Given the description of an element on the screen output the (x, y) to click on. 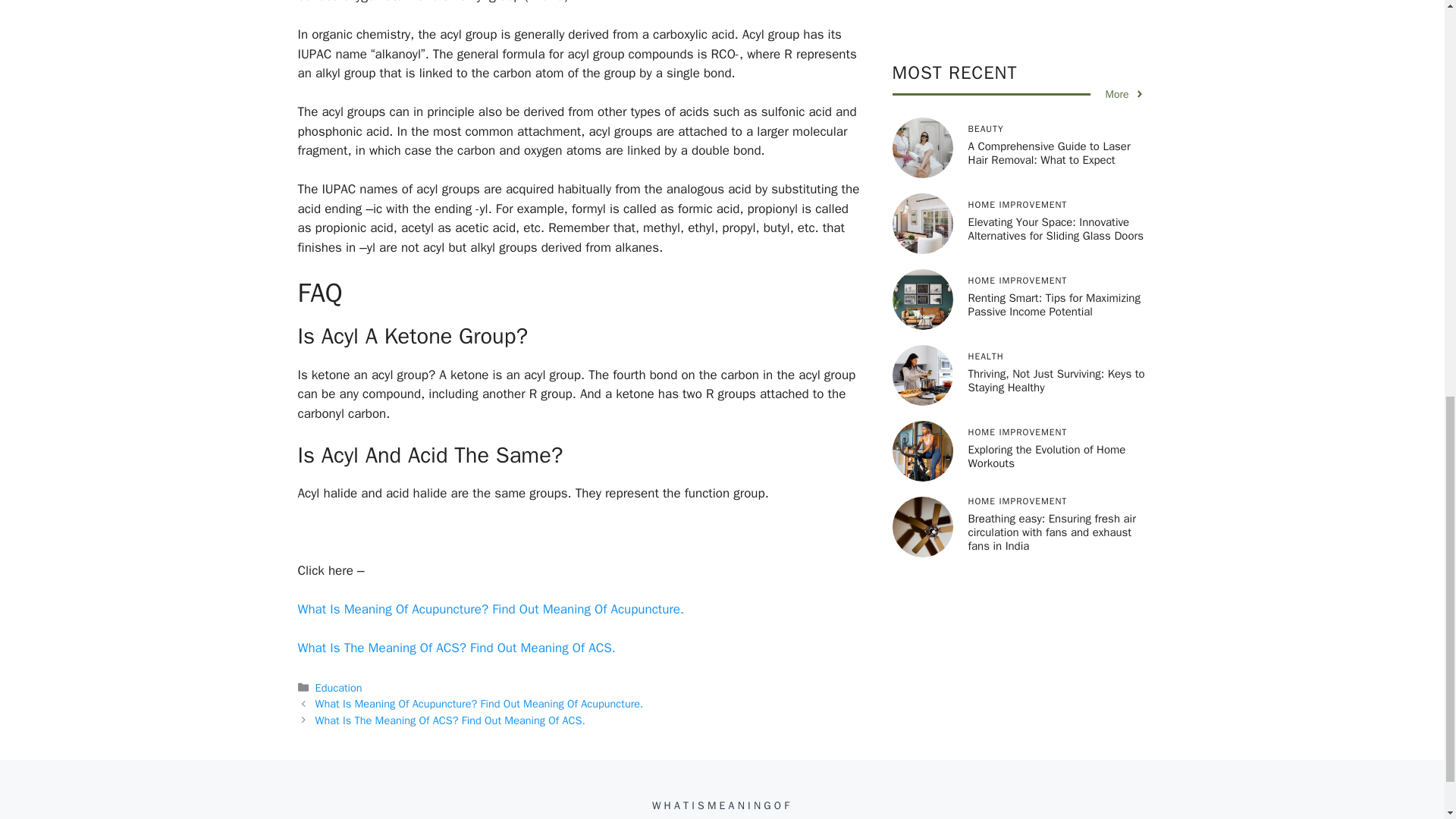
Education (338, 687)
What Is The Meaning Of ACS? Find Out Meaning Of ACS. (455, 647)
What Is The Meaning Of ACS? Find Out Meaning Of ACS. (450, 720)
